Given the description of an element on the screen output the (x, y) to click on. 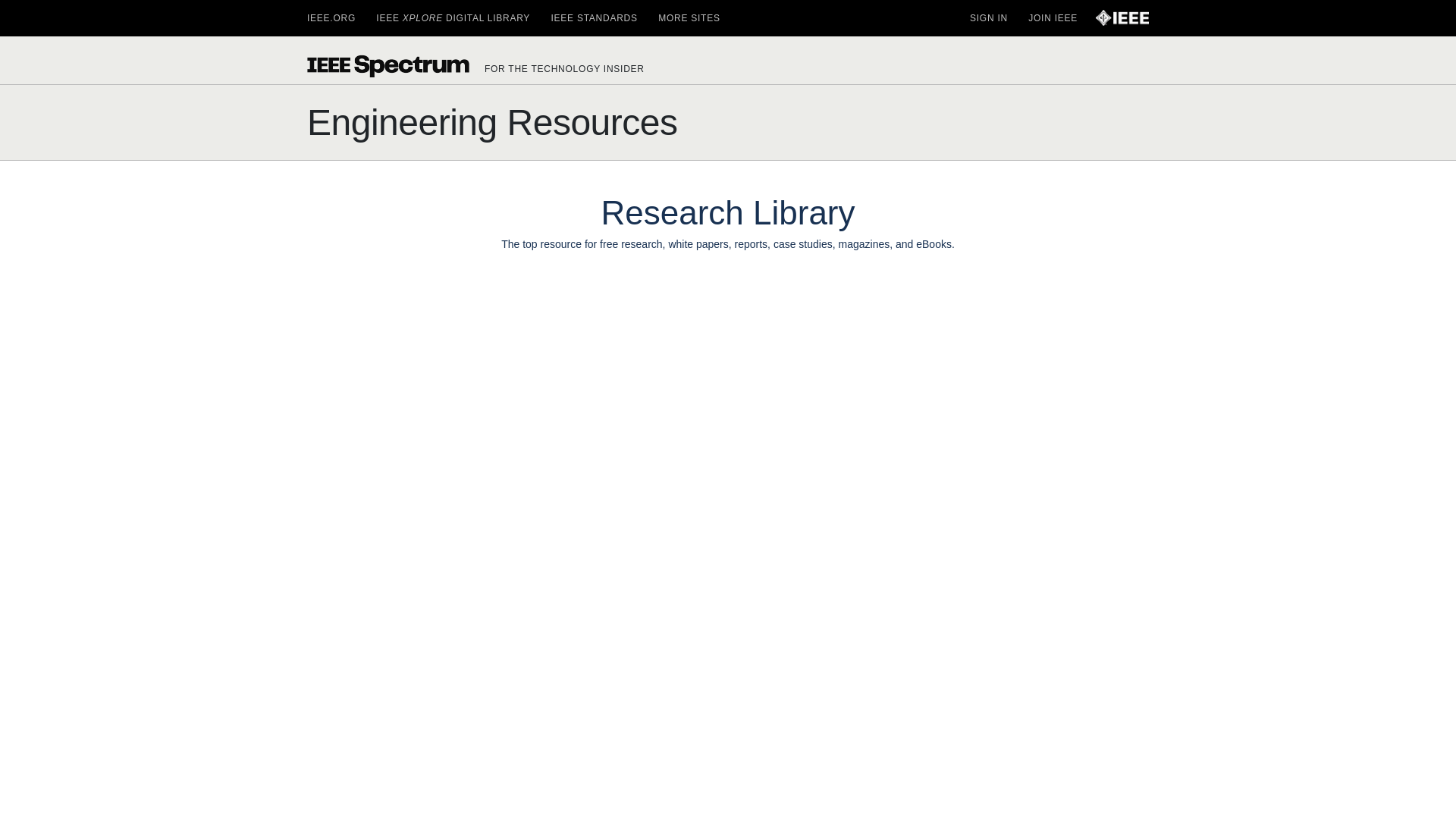
JOIN IEEE (1052, 18)
IEEE XPLORE DIGITAL LIBRARY (452, 18)
IEEE STANDARDS (593, 18)
MORE SITES (689, 18)
SIGN IN (988, 18)
IEEE.ORG (331, 18)
